Given the description of an element on the screen output the (x, y) to click on. 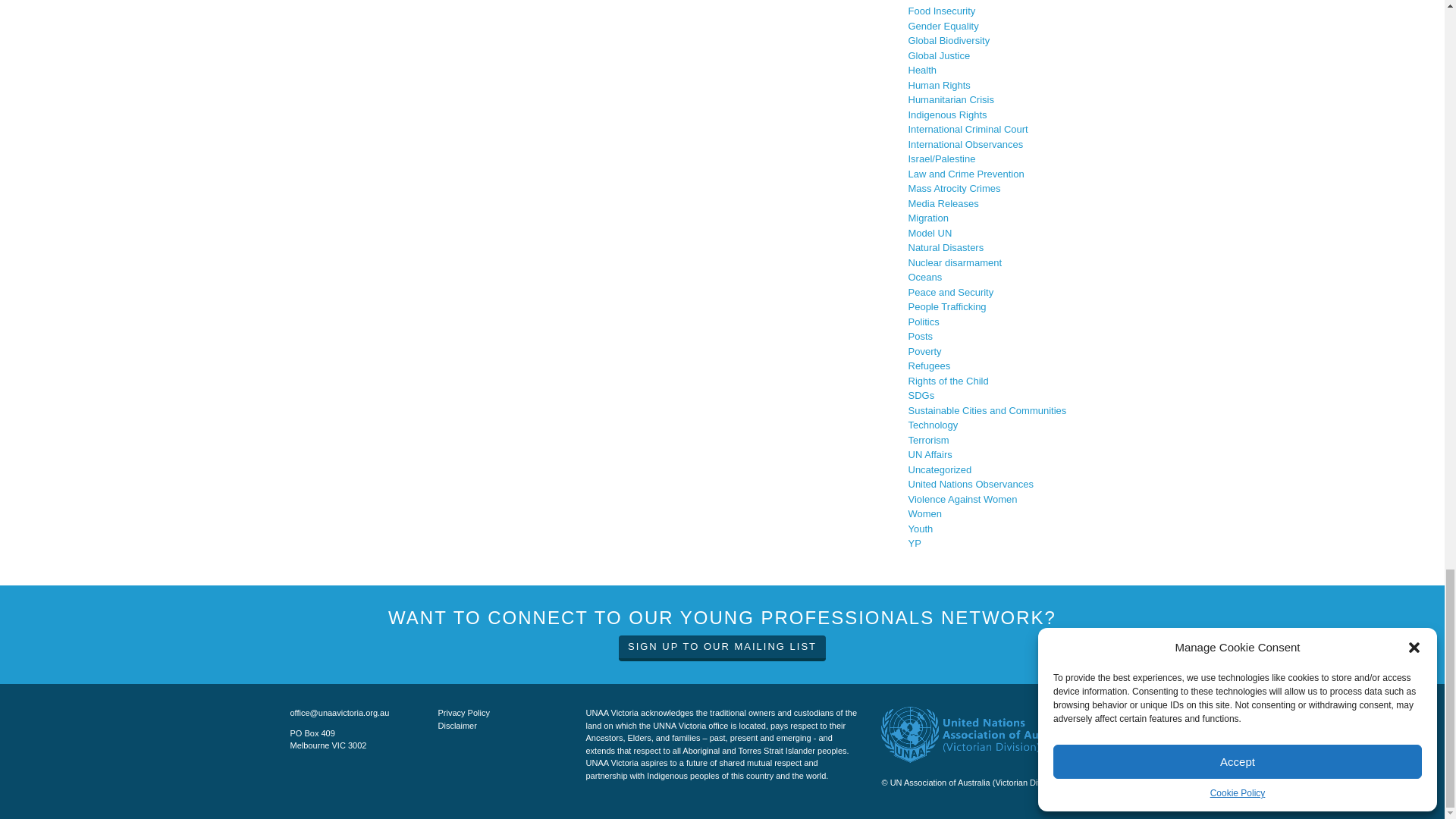
Sign Up To Our Mailing List (721, 647)
